Given the description of an element on the screen output the (x, y) to click on. 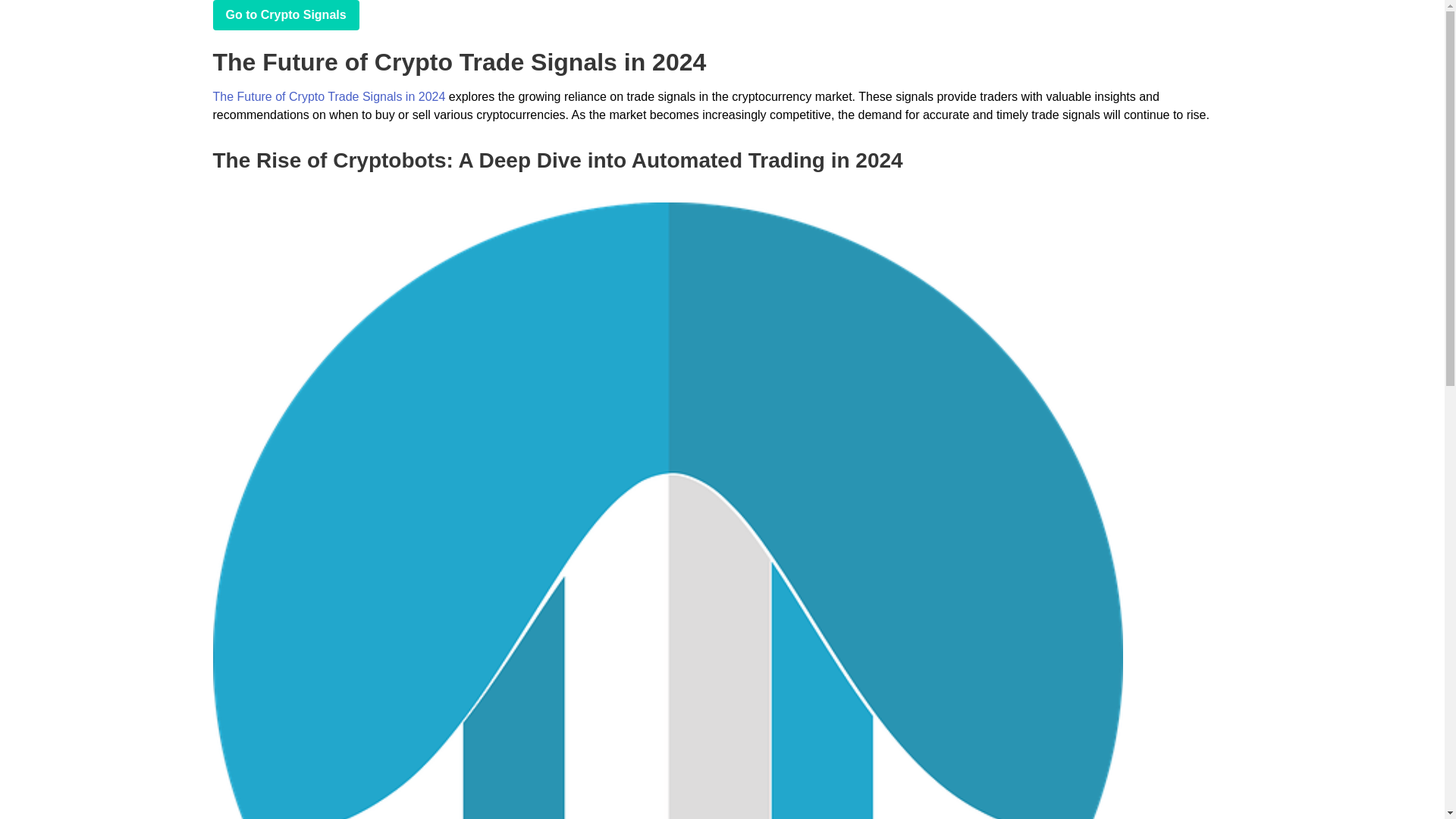
Go to Crypto Signals (285, 15)
play (285, 15)
The Future of Crypto Trade Signals in 2024 (328, 96)
